Given the description of an element on the screen output the (x, y) to click on. 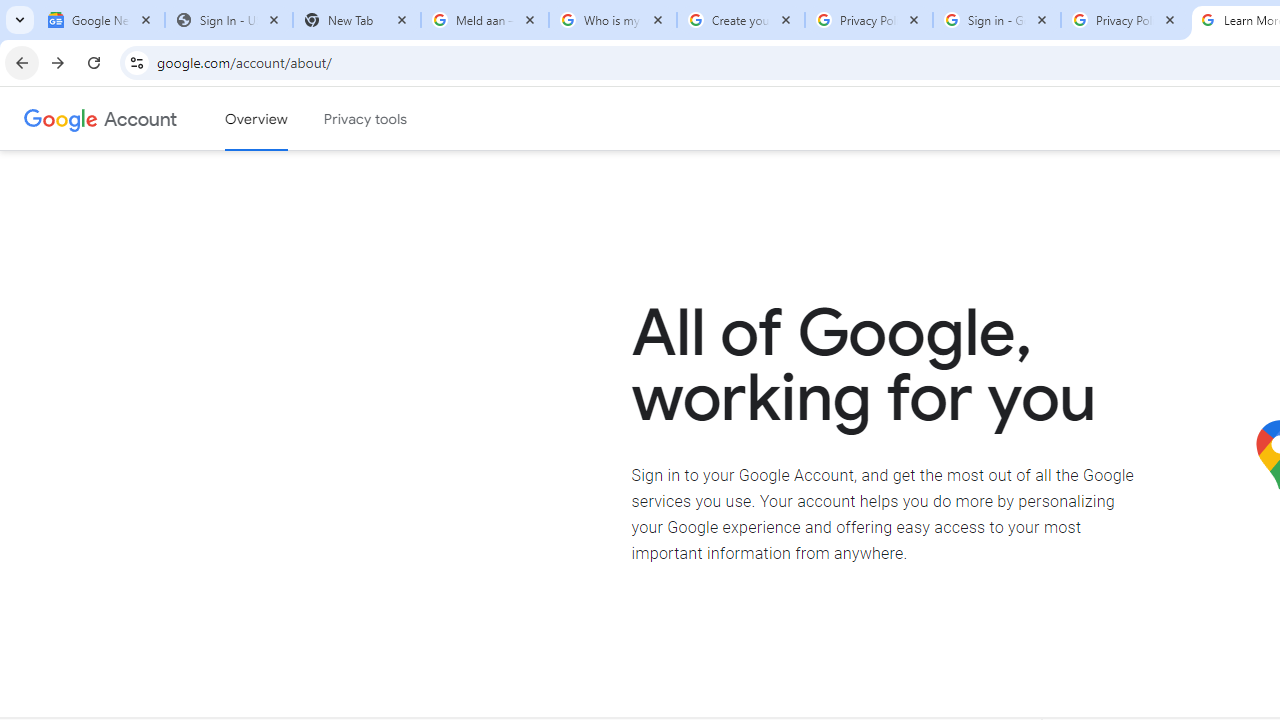
Excel (1001, 400)
OneNote (1078, 400)
Get Add-ins (104, 504)
Sign In (337, 421)
Back (104, 94)
